Given the description of an element on the screen output the (x, y) to click on. 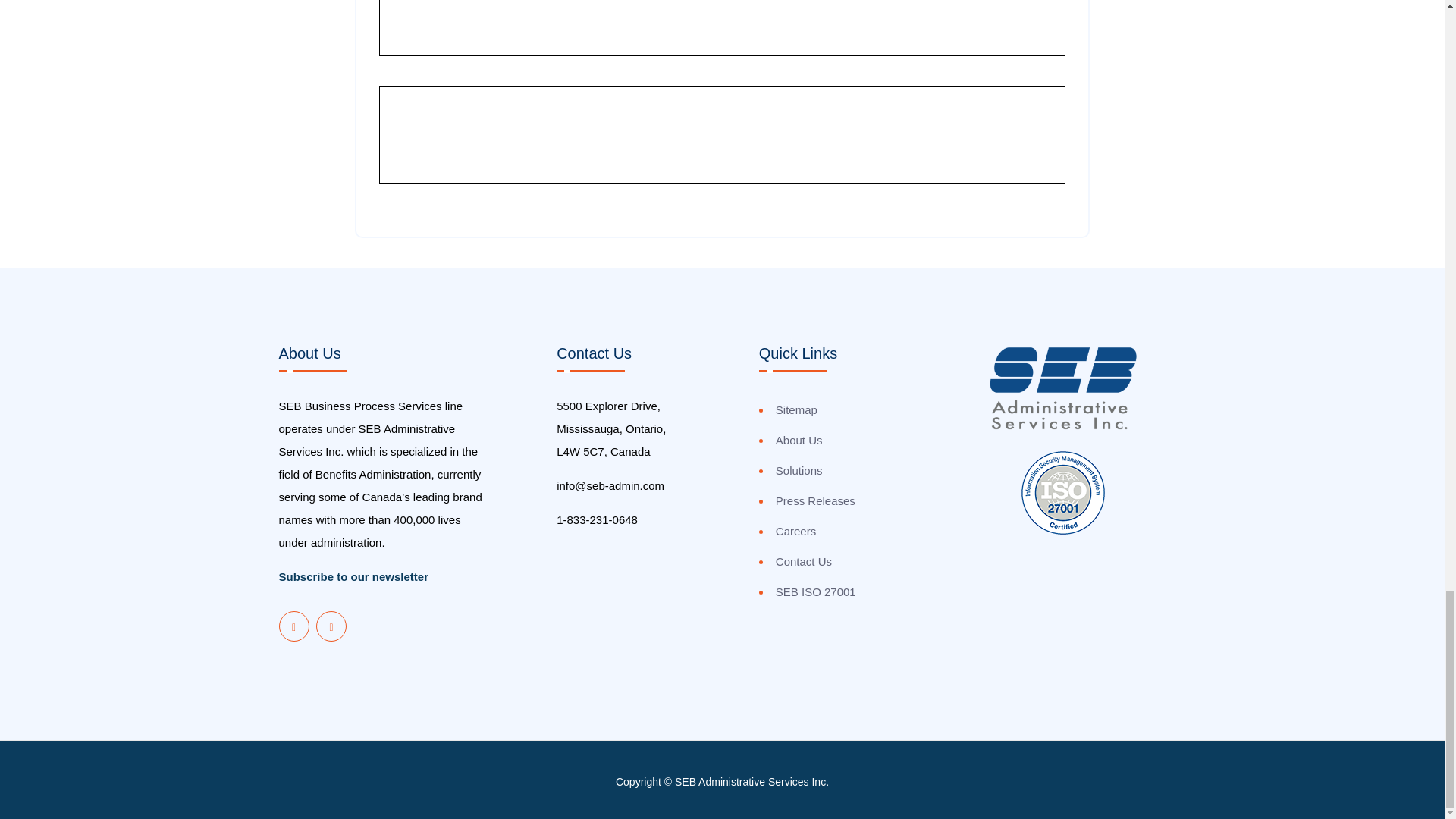
Subscribe to our newsletter (354, 576)
Planning and Implementing a Focused DEI Strategy (663, 29)
Press Releases (816, 501)
About Us (799, 440)
Contact Us (803, 562)
SEB ISO 27001 (816, 592)
Careers (795, 531)
Solutions (799, 470)
Sitemap (796, 409)
